Given the description of an element on the screen output the (x, y) to click on. 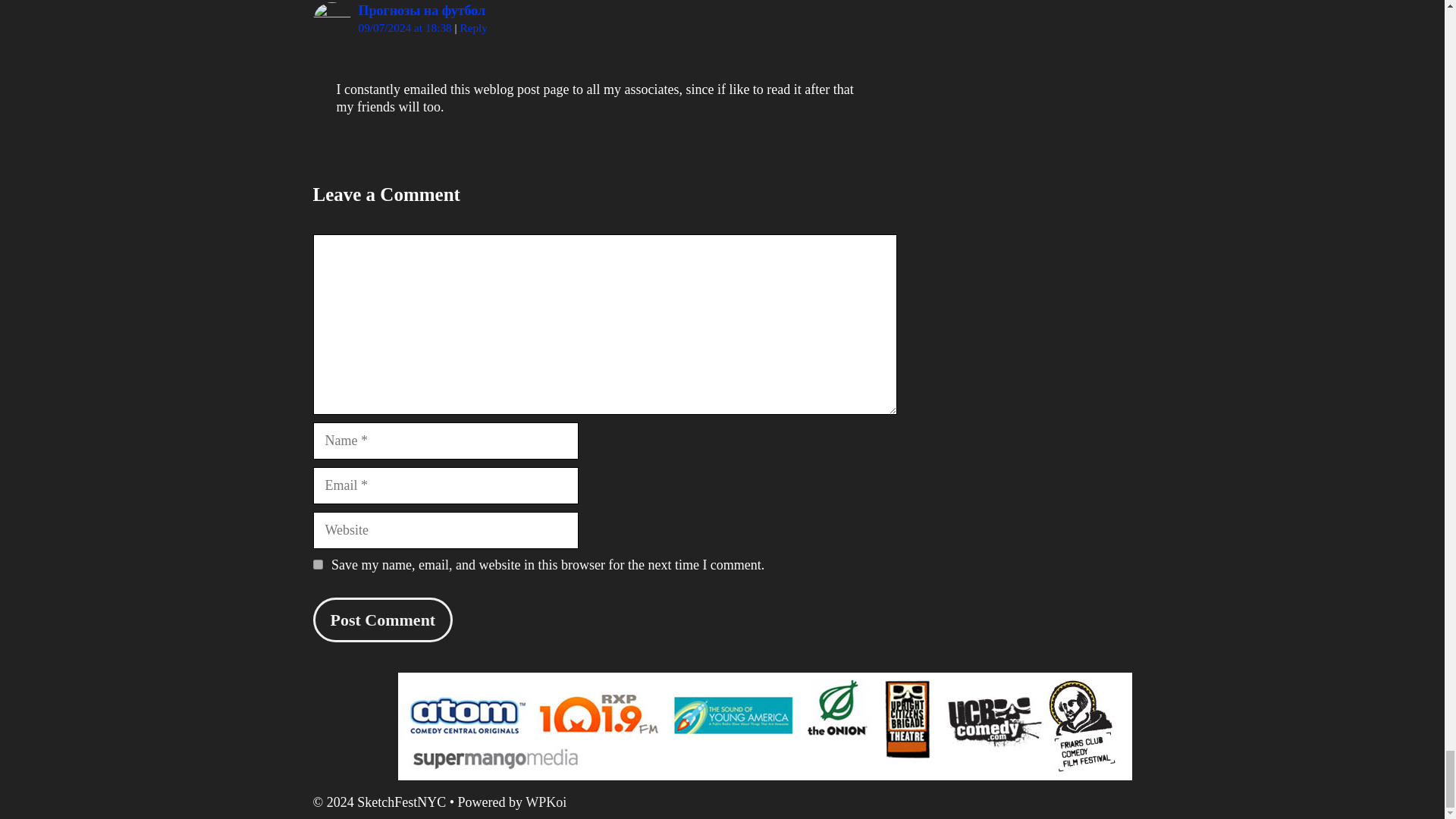
yes (317, 564)
Post Comment (382, 619)
